Given the description of an element on the screen output the (x, y) to click on. 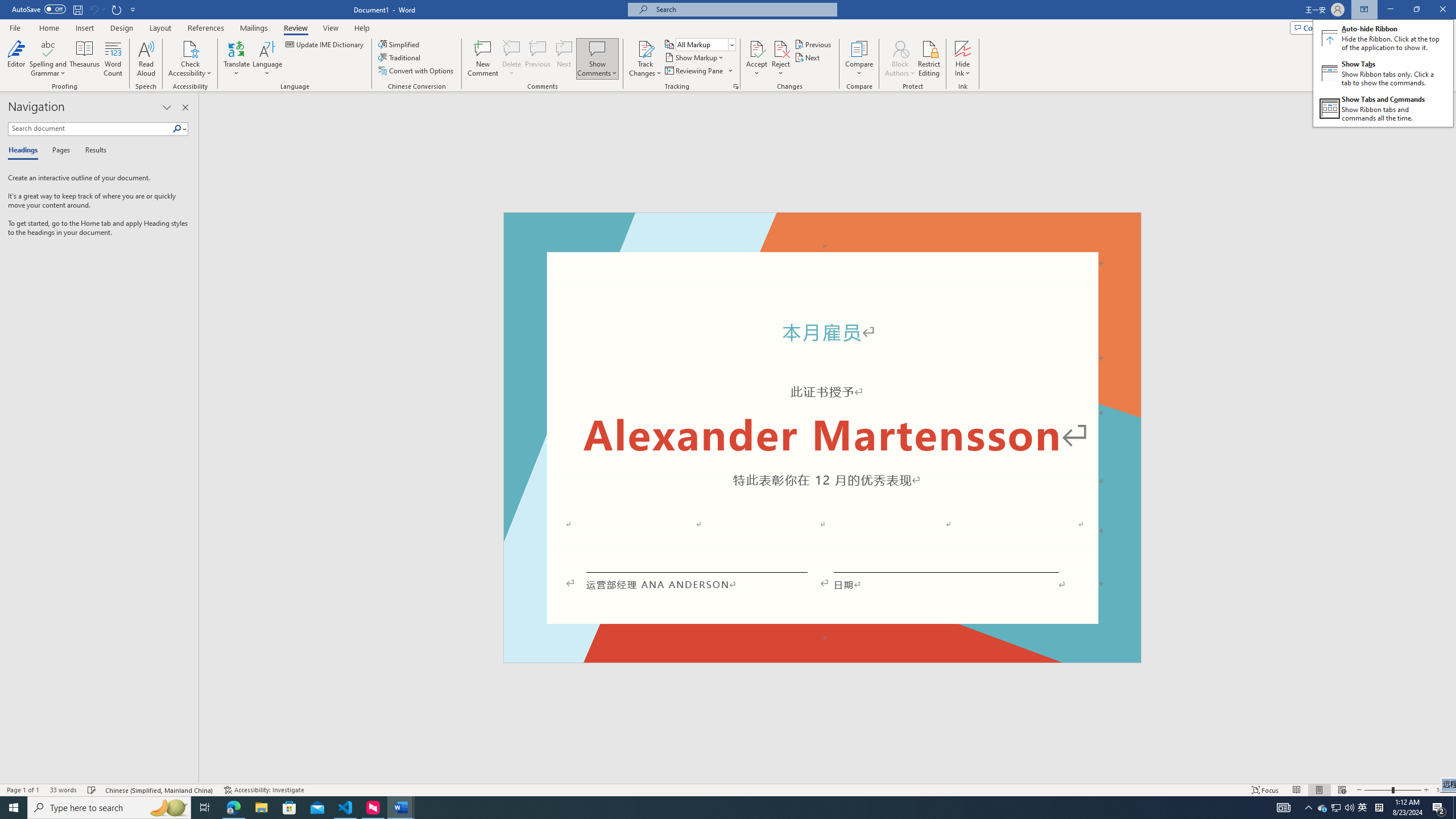
Hide Ink (962, 48)
Headings (25, 150)
Results (91, 150)
User Promoted Notification Area (1336, 807)
Language (267, 58)
Thesaurus... (84, 58)
Footer -Section 1- (822, 657)
Microsoft Store (289, 807)
Accept and Move to Next (756, 48)
Hide Ink (962, 58)
Can't Undo (92, 9)
